Given the description of an element on the screen output the (x, y) to click on. 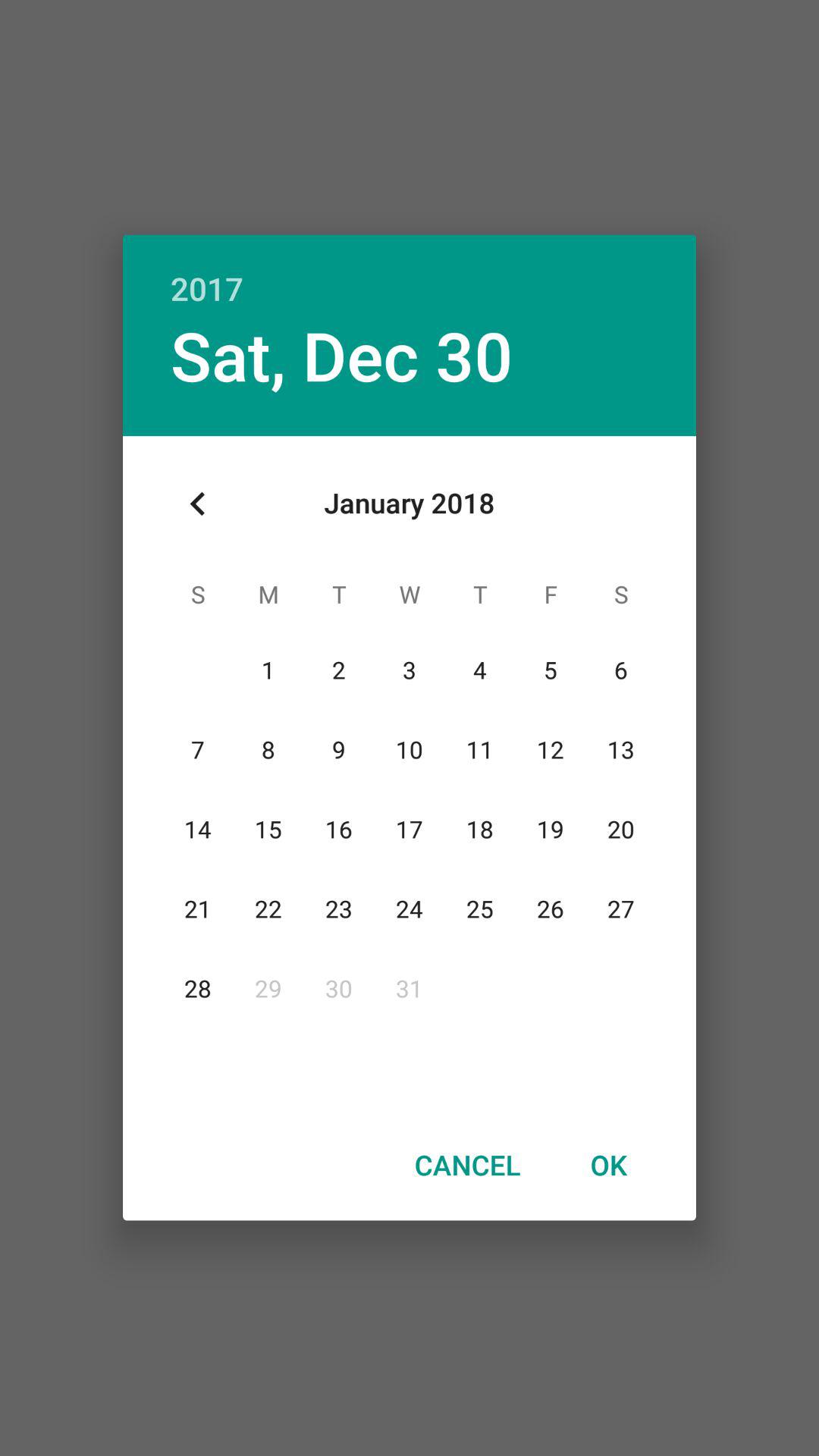
choose item to the right of cancel icon (608, 1164)
